Given the description of an element on the screen output the (x, y) to click on. 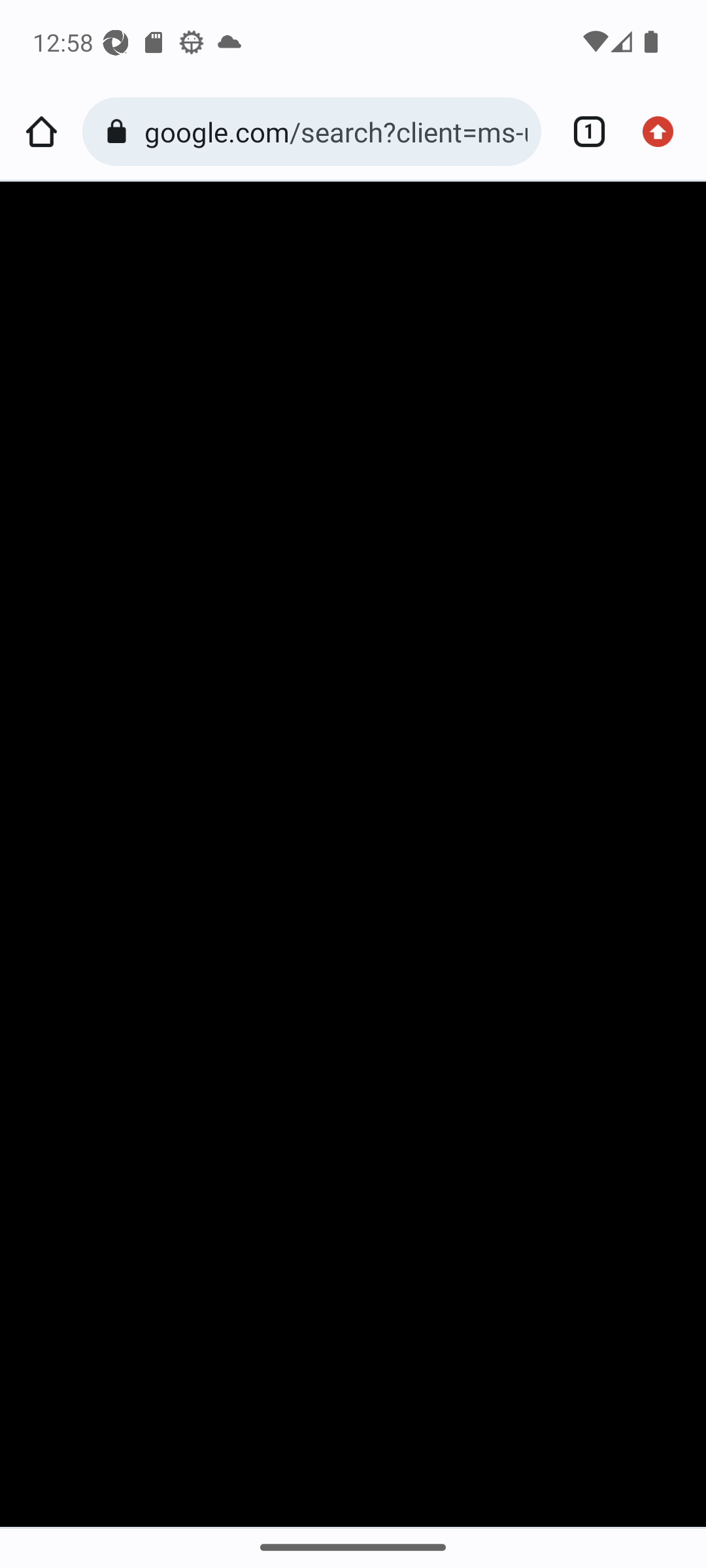
Home (41, 131)
Connection is secure (120, 131)
Switch or close tabs (582, 131)
Update available. More options (664, 131)
